Given the description of an element on the screen output the (x, y) to click on. 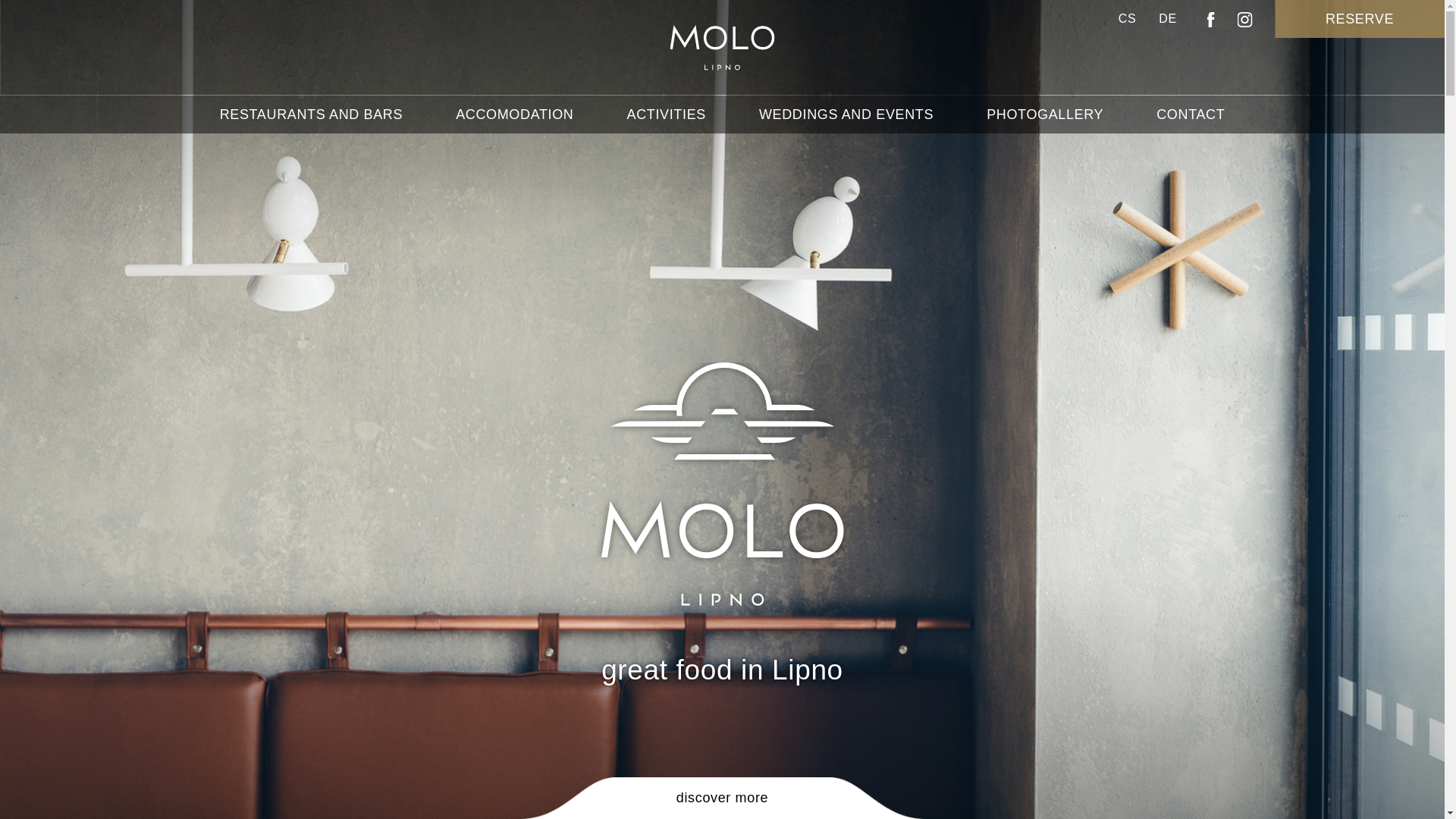
DE (1155, 18)
RESTAURANTS AND BARS (311, 114)
CS (1127, 18)
CONTACT (1189, 114)
discover more (721, 798)
ACTIVITIES (665, 114)
PHOTOGALLERY (1044, 114)
WEDDINGS AND EVENTS (845, 114)
ACCOMODATION (514, 114)
